Given the description of an element on the screen output the (x, y) to click on. 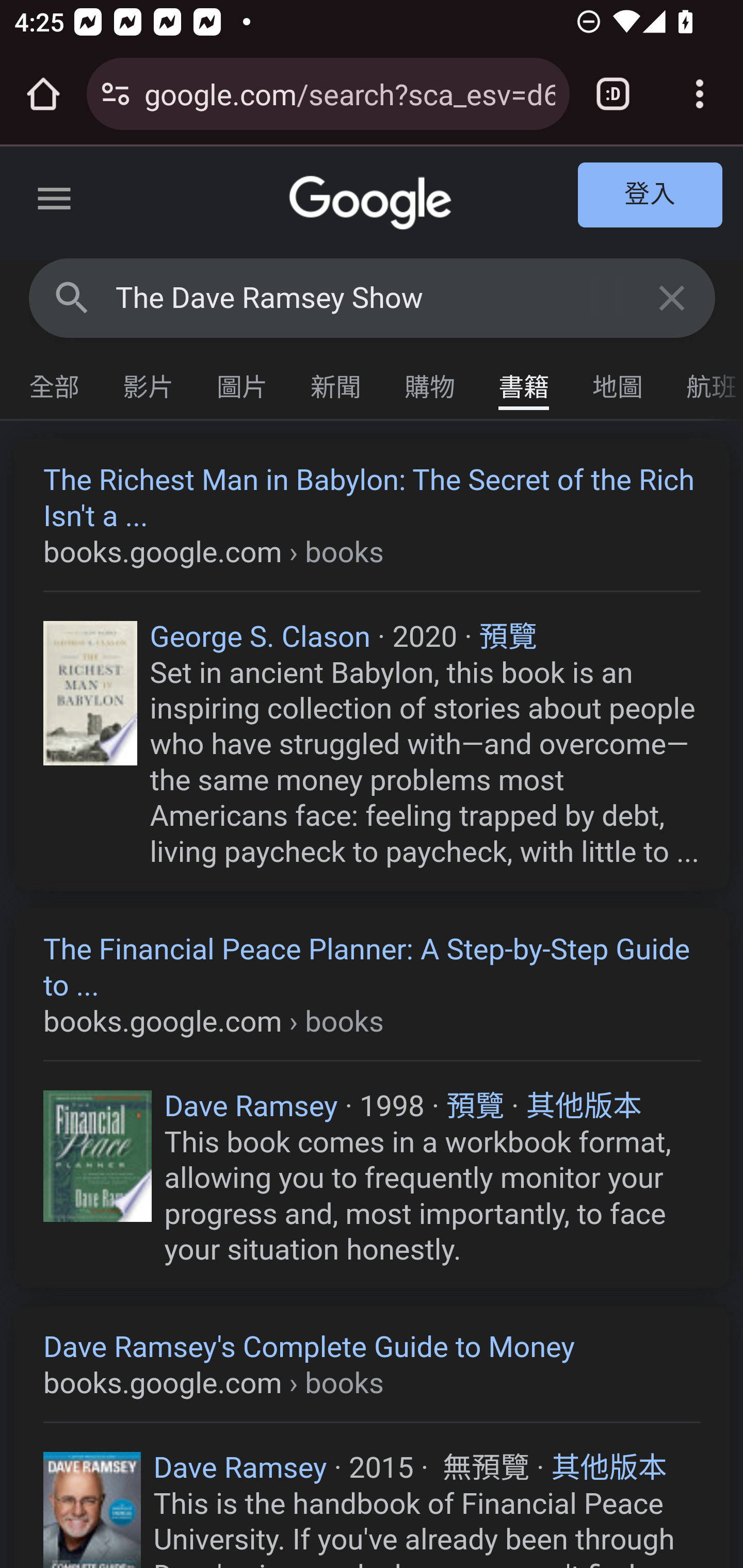
Open the home page (43, 93)
Connection is secure (115, 93)
Switch or close tabs (612, 93)
Customize and control Google Chrome (699, 93)
主選單 (54, 202)
Google (372, 203)
登入 (650, 195)
Google 搜尋 (71, 296)
清除搜尋內容 (672, 296)
The Dave Ramsey Show (372, 297)
全部 (54, 382)
影片 (148, 382)
圖片 (242, 382)
新聞 (336, 382)
購物 (430, 382)
地圖 (618, 382)
航班 (703, 382)
George S. Clason (259, 637)
預覽 (507, 637)
Dave Ramsey (250, 1106)
預覽 (475, 1106)
其他版本 (583, 1106)
Dave Ramsey's Complete Guide to Money (372, 1365)
Dave Ramsey (239, 1466)
其他版本 (608, 1466)
